Given the description of an element on the screen output the (x, y) to click on. 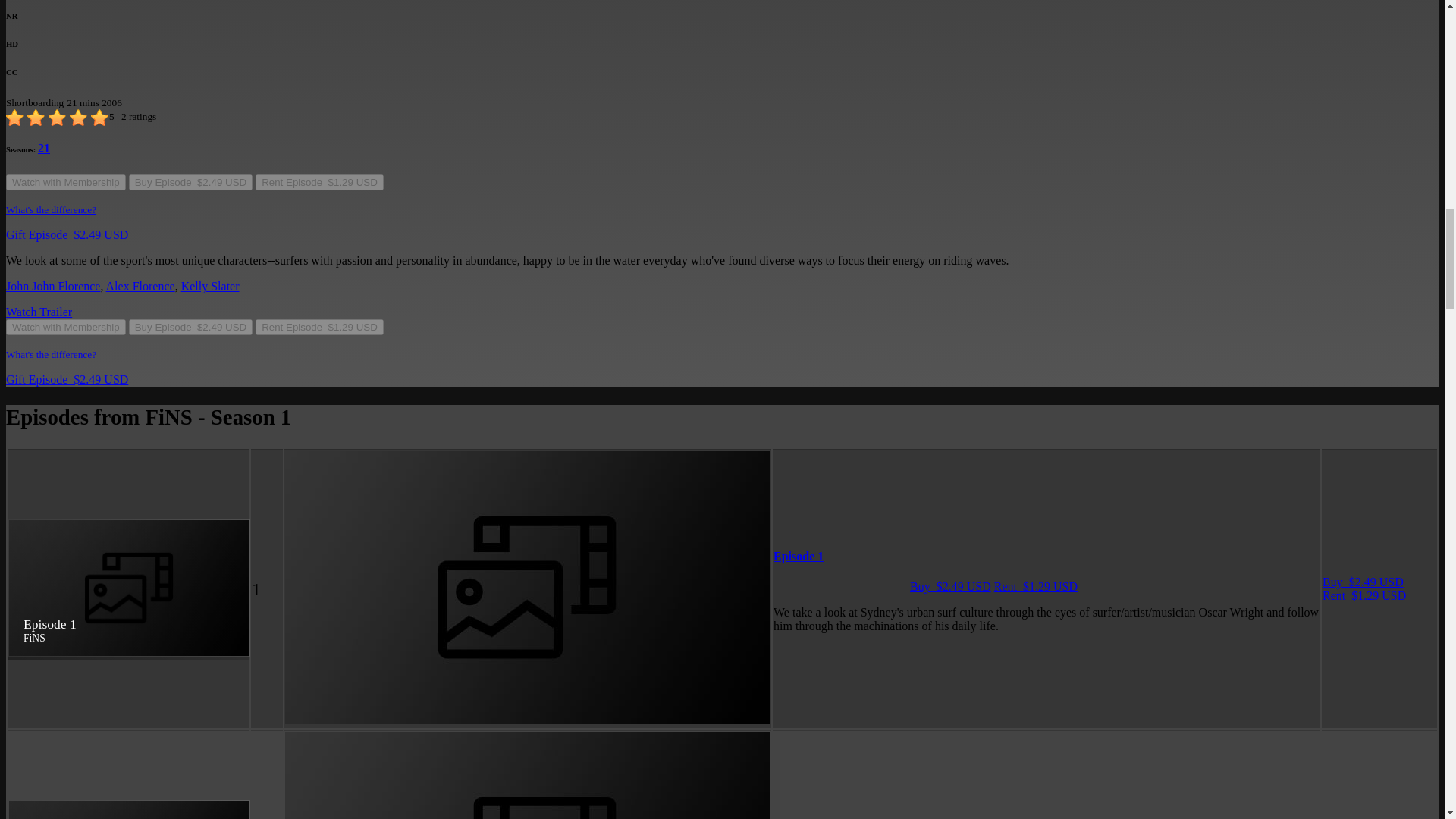
Episode  2 (358, 478)
Episode  3 (358, 581)
didn't like it (36, 18)
Episode  4 (358, 682)
liked it (57, 18)
loved it (99, 18)
Watch with Membership (65, 84)
Episode  1 (358, 376)
really like it (78, 18)
hated it (14, 18)
